Given the description of an element on the screen output the (x, y) to click on. 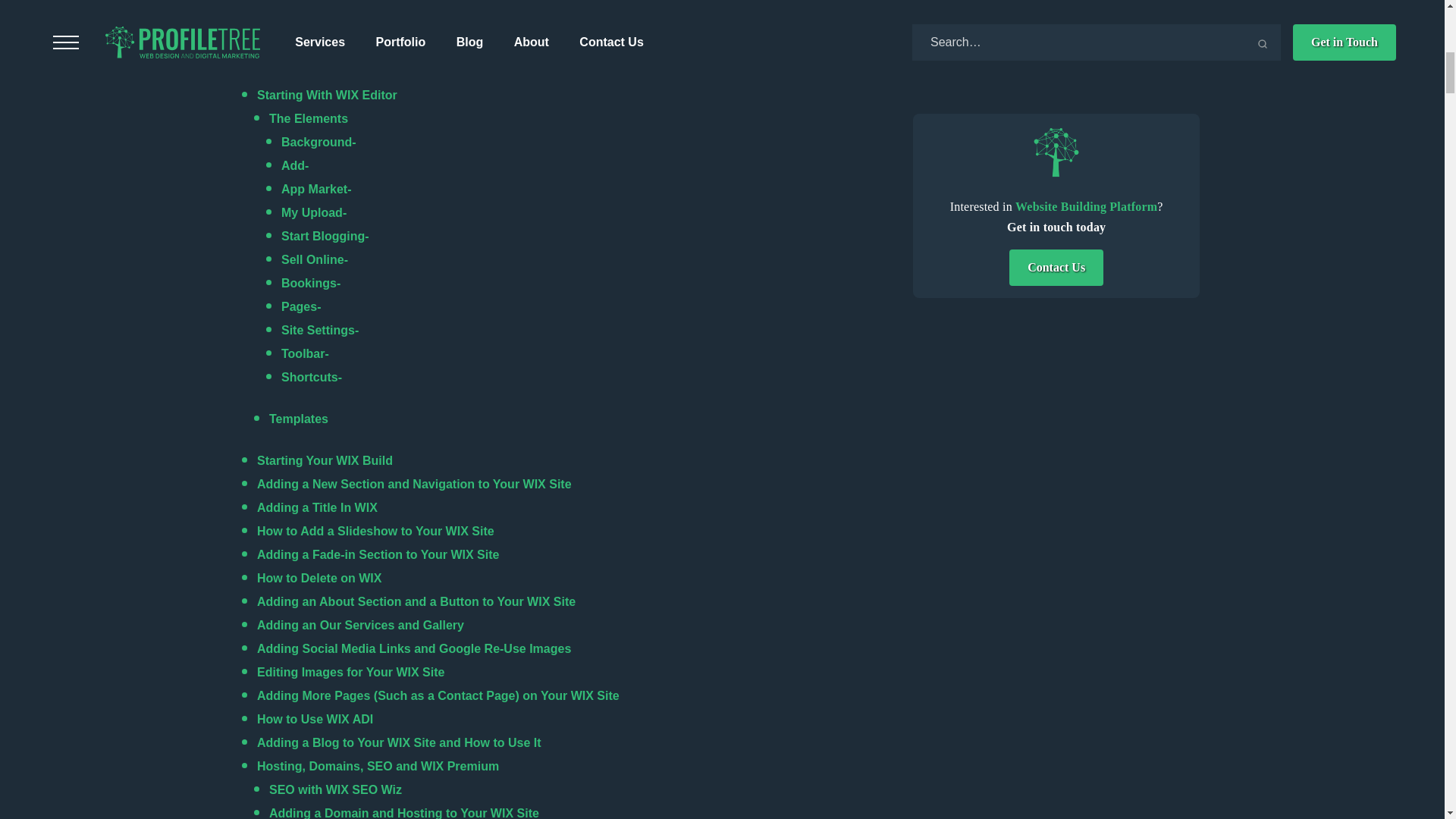
Starting With WIX Editor (327, 94)
App Market- (315, 188)
Toolbar- (305, 353)
Before Getting Started on WIX (343, 71)
Shortcuts- (311, 377)
Site Settings- (319, 329)
Start Blogging- (325, 236)
Add-  (297, 164)
Pages-  (302, 306)
Bookings-  (312, 282)
